Given the description of an element on the screen output the (x, y) to click on. 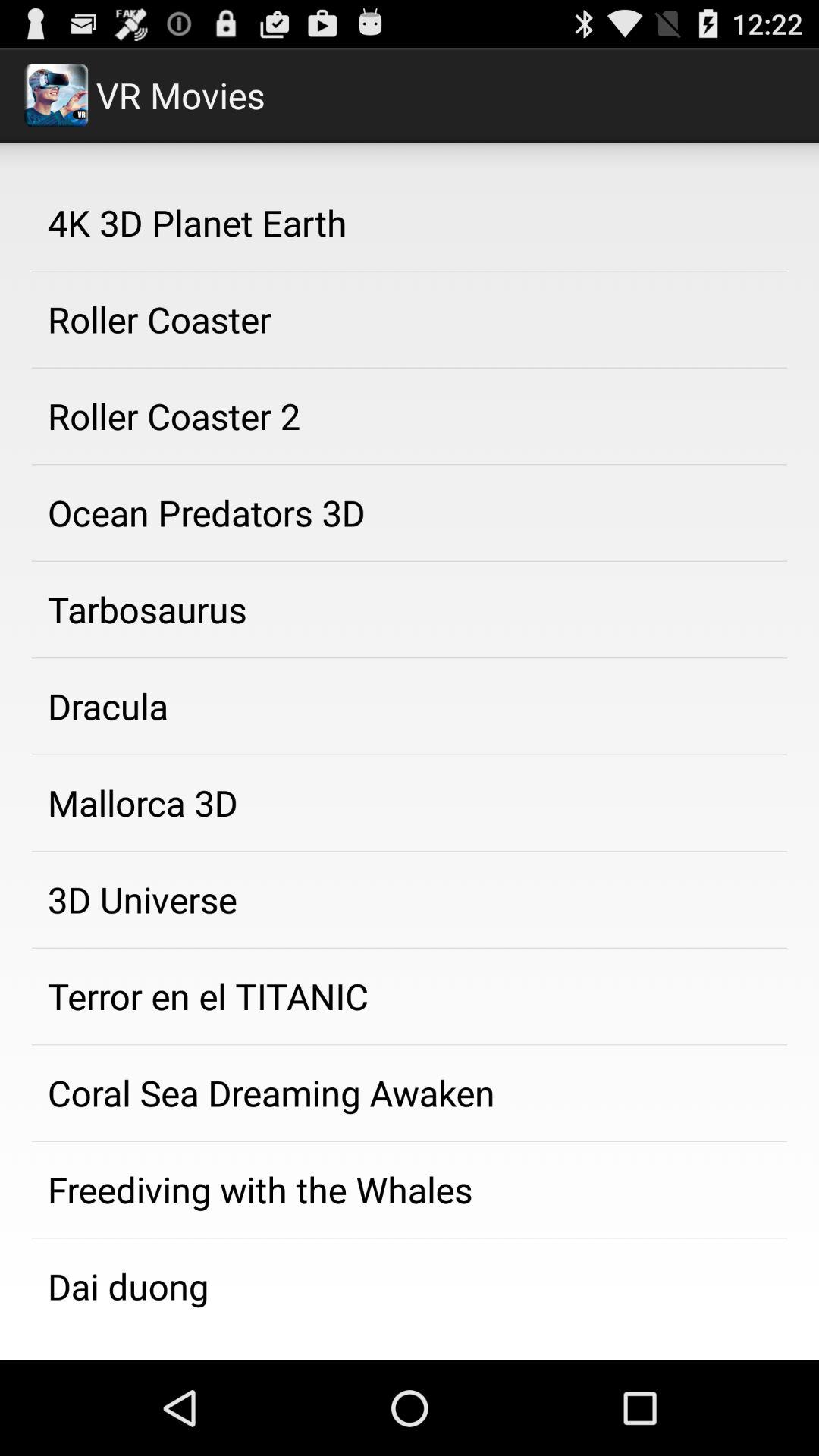
choose icon below 3d universe item (409, 996)
